Given the description of an element on the screen output the (x, y) to click on. 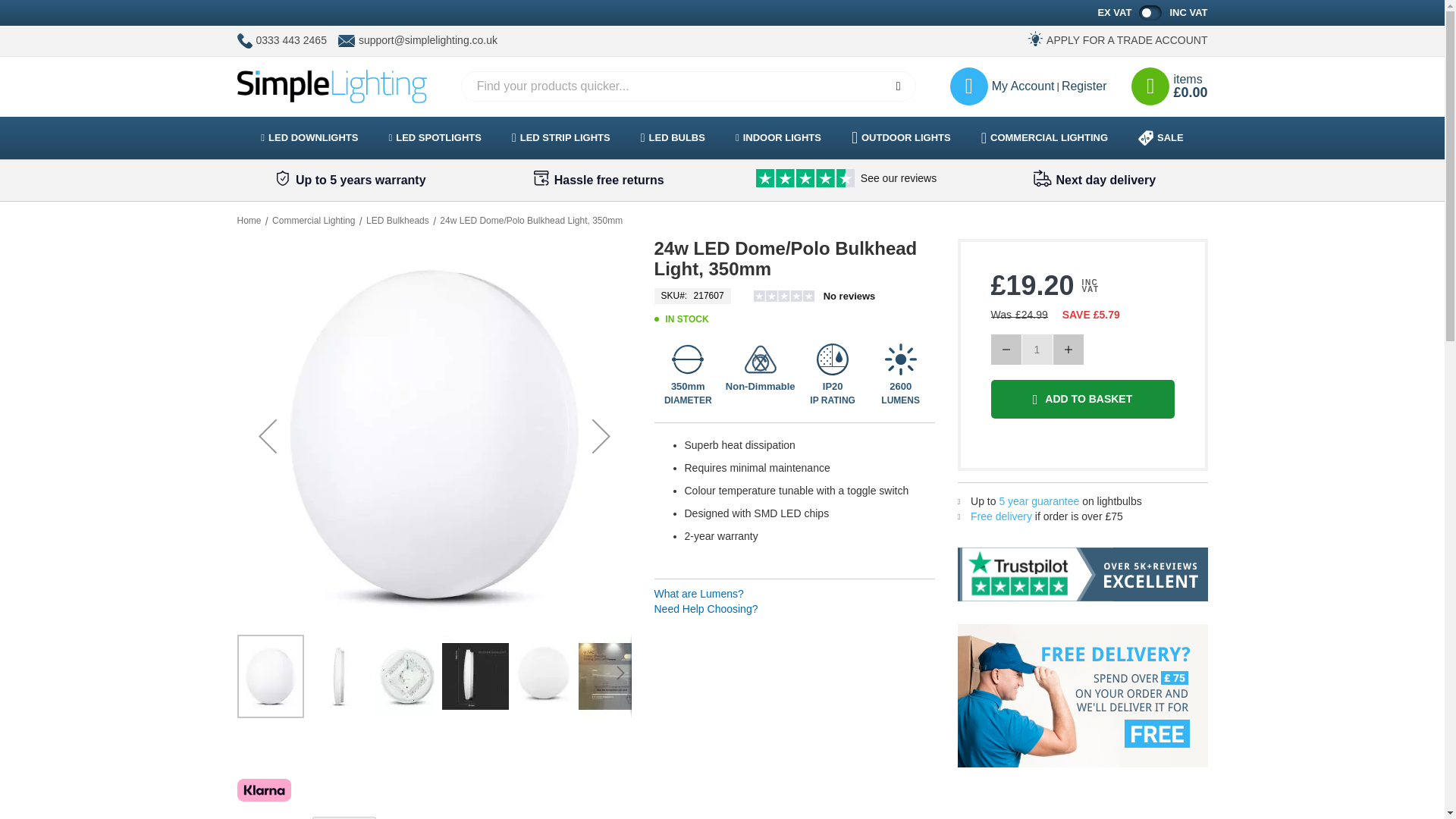
LED Spotlights (434, 137)
LED Downlights (309, 137)
APPLY FOR A TRADE ACCOUNT (1126, 40)
LED BULBS (673, 137)
Register (1083, 86)
0333 443 2465 (291, 40)
My Account (1002, 86)
INDOOR LIGHTS (777, 137)
LED SPOTLIGHTS (434, 137)
LED Strip Lights (561, 137)
1 (1037, 349)
LED DOWNLIGHTS (309, 137)
LED Bulbs (673, 137)
LED STRIP LIGHTS (561, 137)
